Given the description of an element on the screen output the (x, y) to click on. 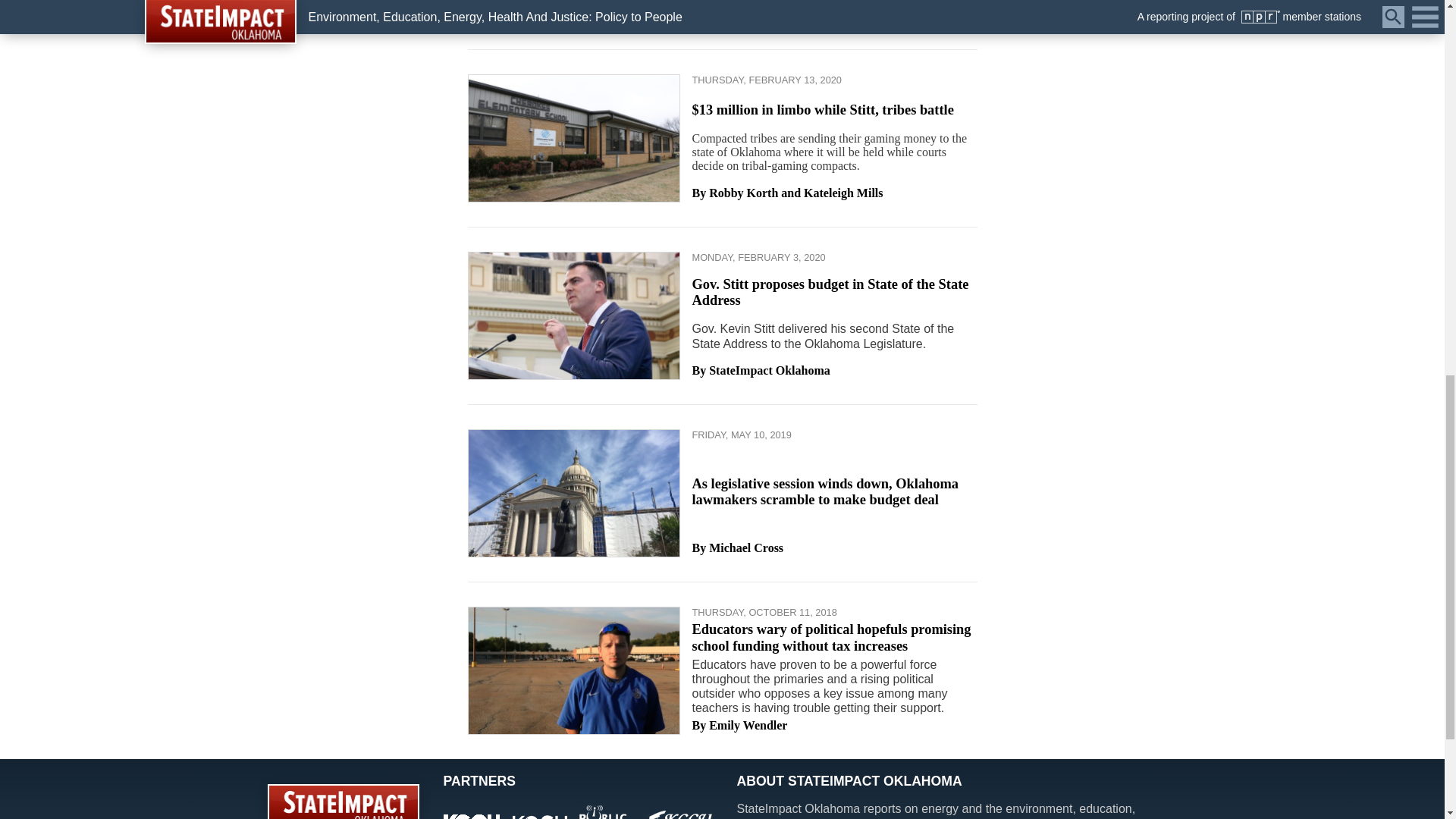
Posts by StateImpact Oklahoma (769, 370)
Robby Korth (743, 193)
Posts by Robby Korth (743, 193)
Posts by Emily Wendler (748, 726)
Michael Cross (746, 548)
Emily Wendler (748, 726)
Gov. Stitt proposes budget in State of the State Address (829, 292)
Posts by Michael Cross (746, 548)
Posts by Quinton Chandler (757, 16)
